Given the description of an element on the screen output the (x, y) to click on. 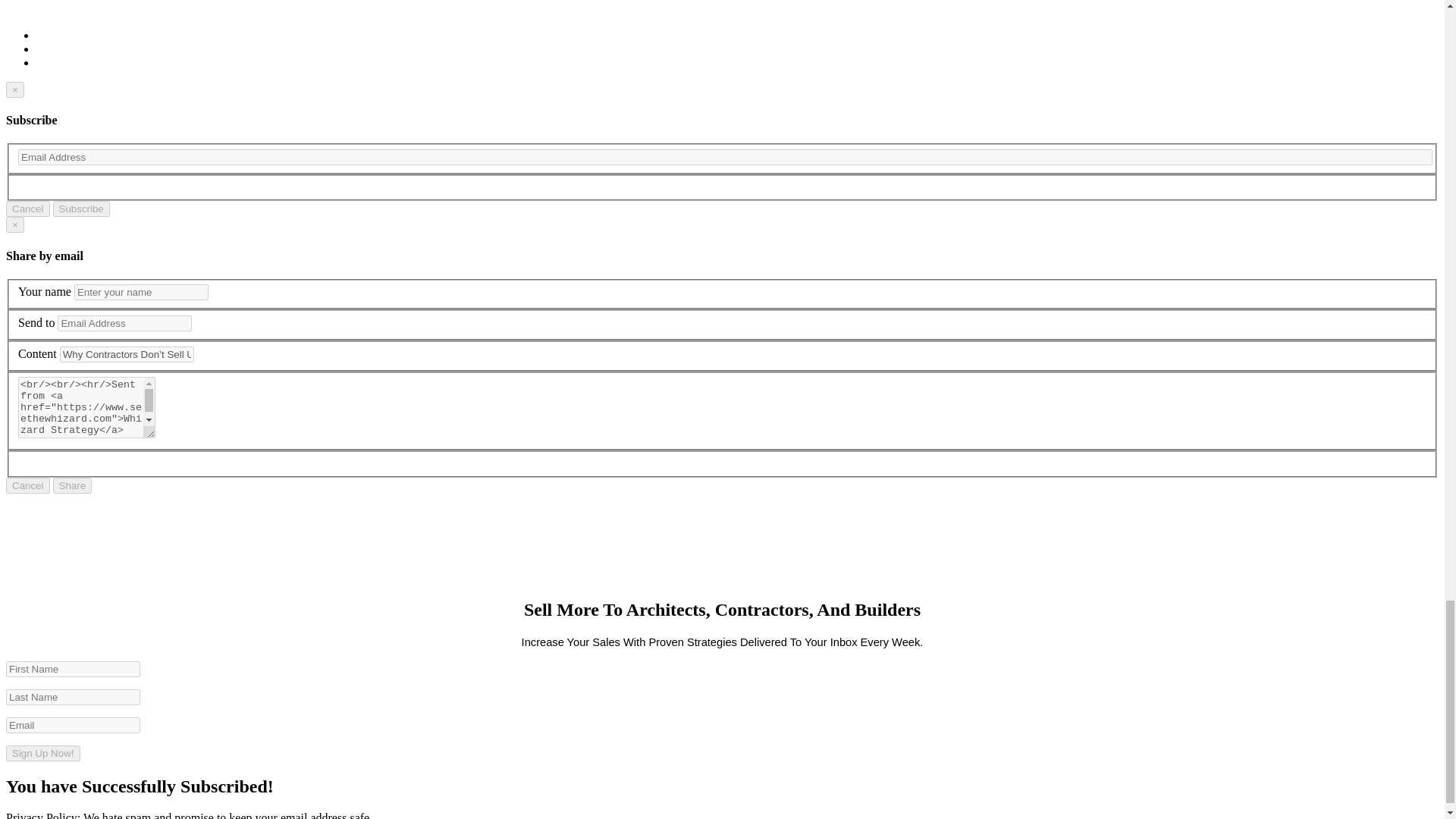
Share (72, 485)
Cancel (27, 208)
Cancel (27, 485)
Sign Up Now! (42, 753)
Subscribe (81, 208)
